Given the description of an element on the screen output the (x, y) to click on. 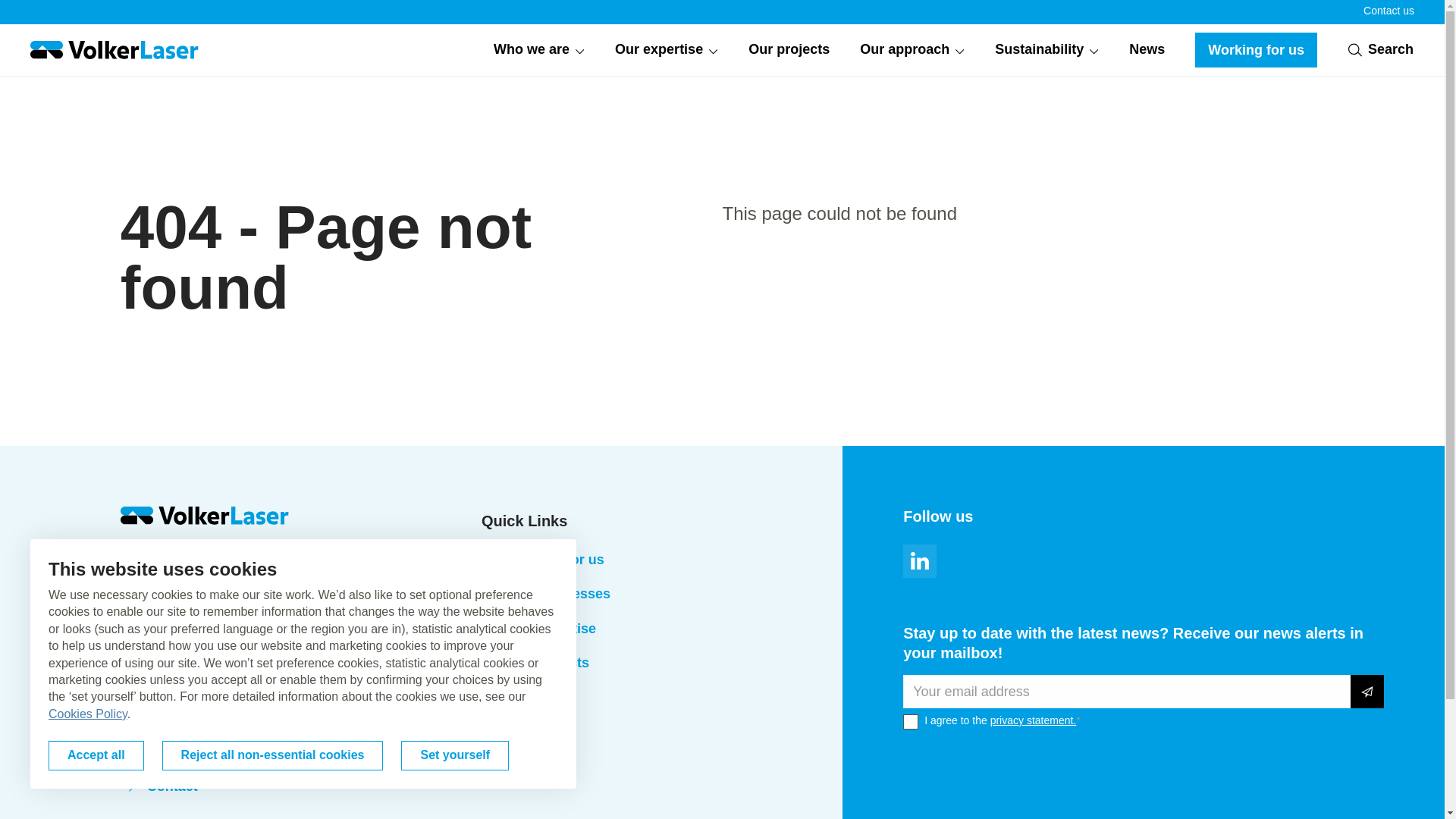
Submit (1367, 691)
Our expertise (665, 50)
Working for us (1256, 49)
Contact us (1387, 10)
Sustainability (1046, 50)
Our projects (788, 50)
Search (1380, 49)
Our approach (911, 50)
Who we are (539, 50)
News (1146, 50)
